Given the description of an element on the screen output the (x, y) to click on. 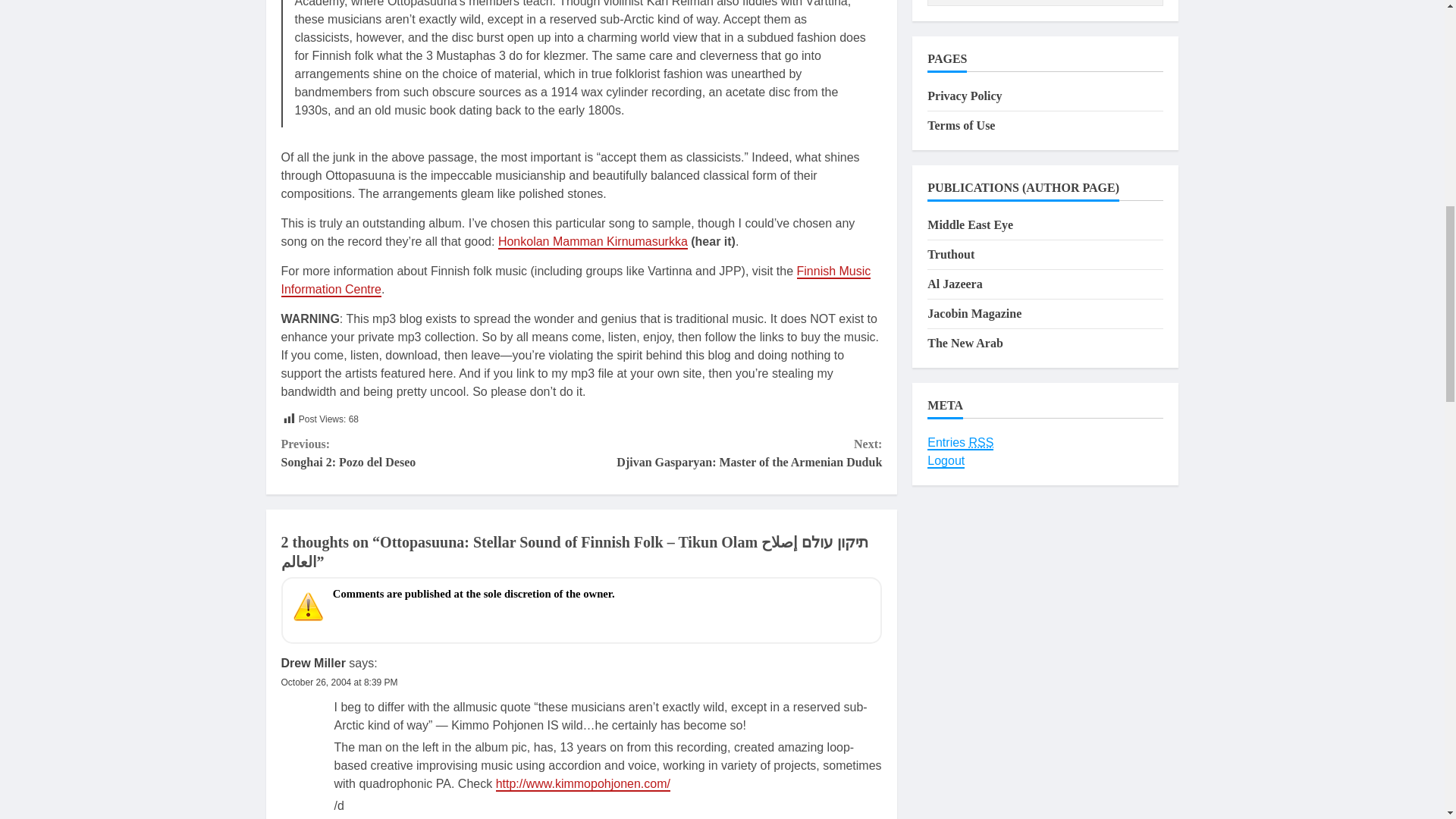
Finnish Music Information Centre (575, 280)
October 26, 2004 at 8:39 PM (731, 452)
Drew Miller (430, 452)
Really Simple Syndication (339, 682)
Honkolan Mamman Kirnumasurkka (313, 662)
